Given the description of an element on the screen output the (x, y) to click on. 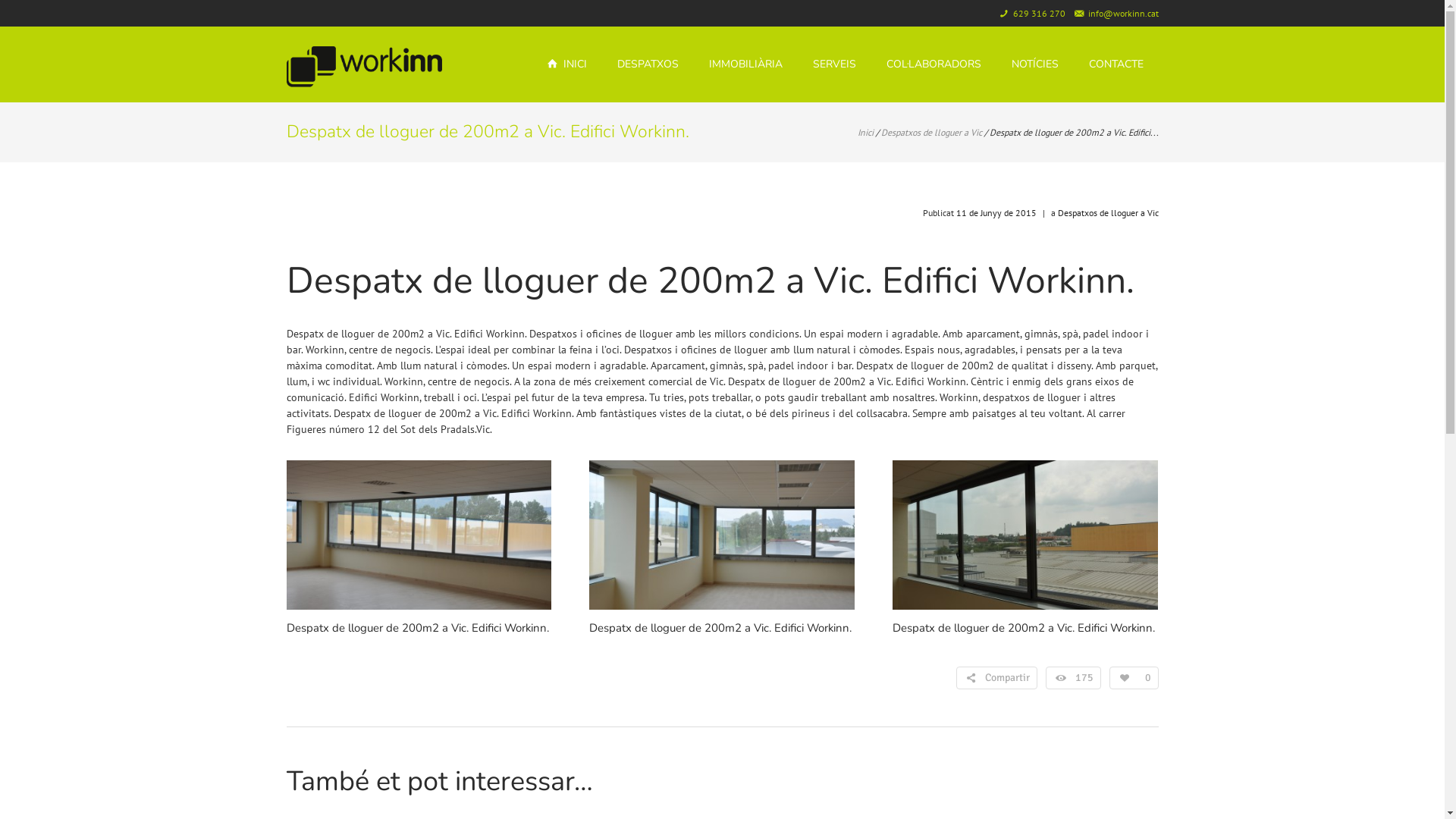
11 de Junyy de 2015 Element type: text (995, 212)
CONTACTE Element type: text (1115, 63)
Despatxos de lloguer a Vic Element type: text (931, 132)
Compartir Element type: text (997, 677)
SERVEIS Element type: text (834, 63)
Despatxos de lloguer a Vic Element type: text (1107, 212)
Inici Element type: text (864, 132)
INICI Element type: text (567, 63)
DESPATXOS Element type: text (647, 63)
0 Element type: text (1133, 677)
info@workinn.cat Element type: text (1122, 12)
175 Element type: text (1073, 677)
